Given the description of an element on the screen output the (x, y) to click on. 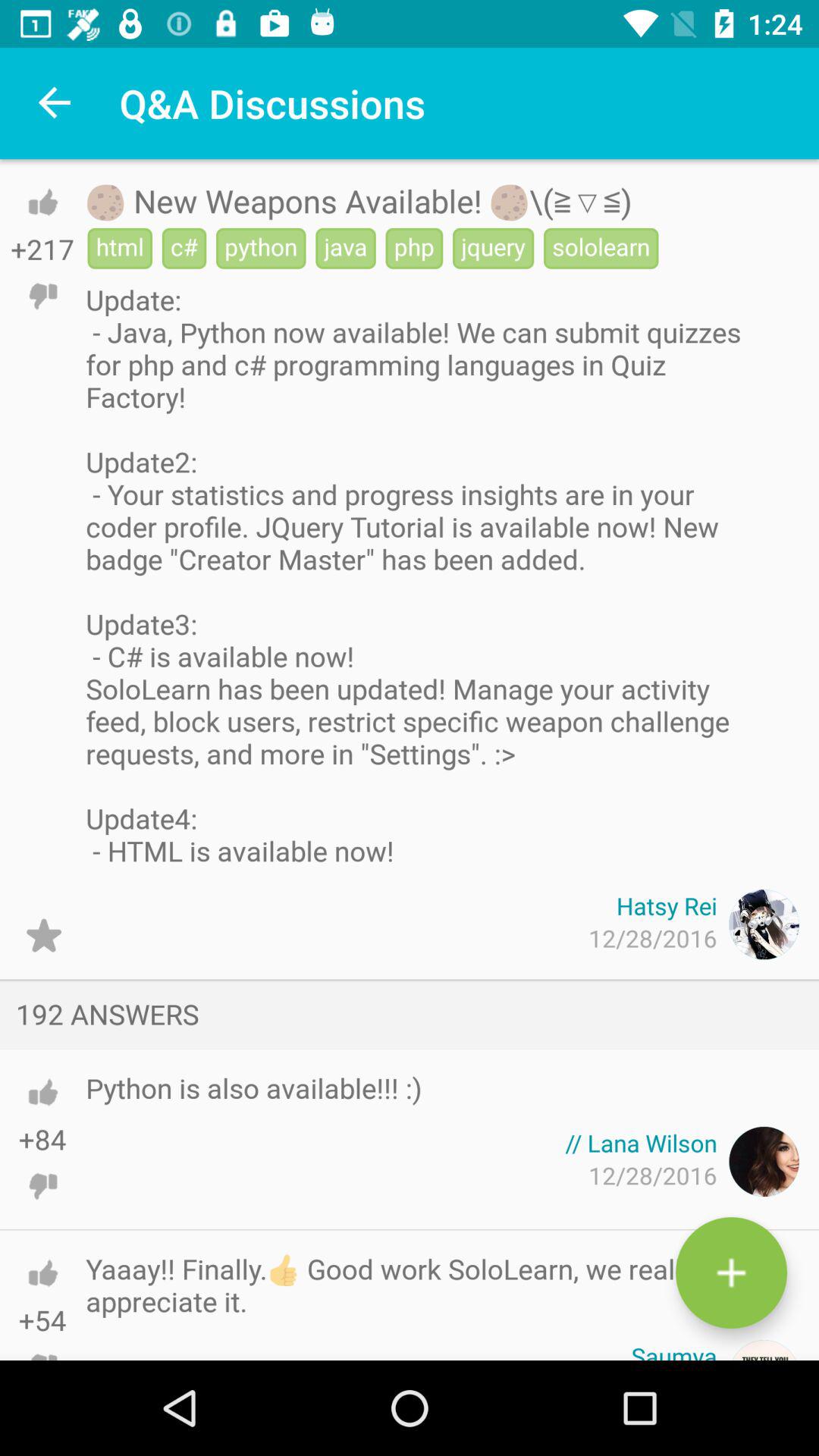
dislike answer (42, 1186)
